Given the description of an element on the screen output the (x, y) to click on. 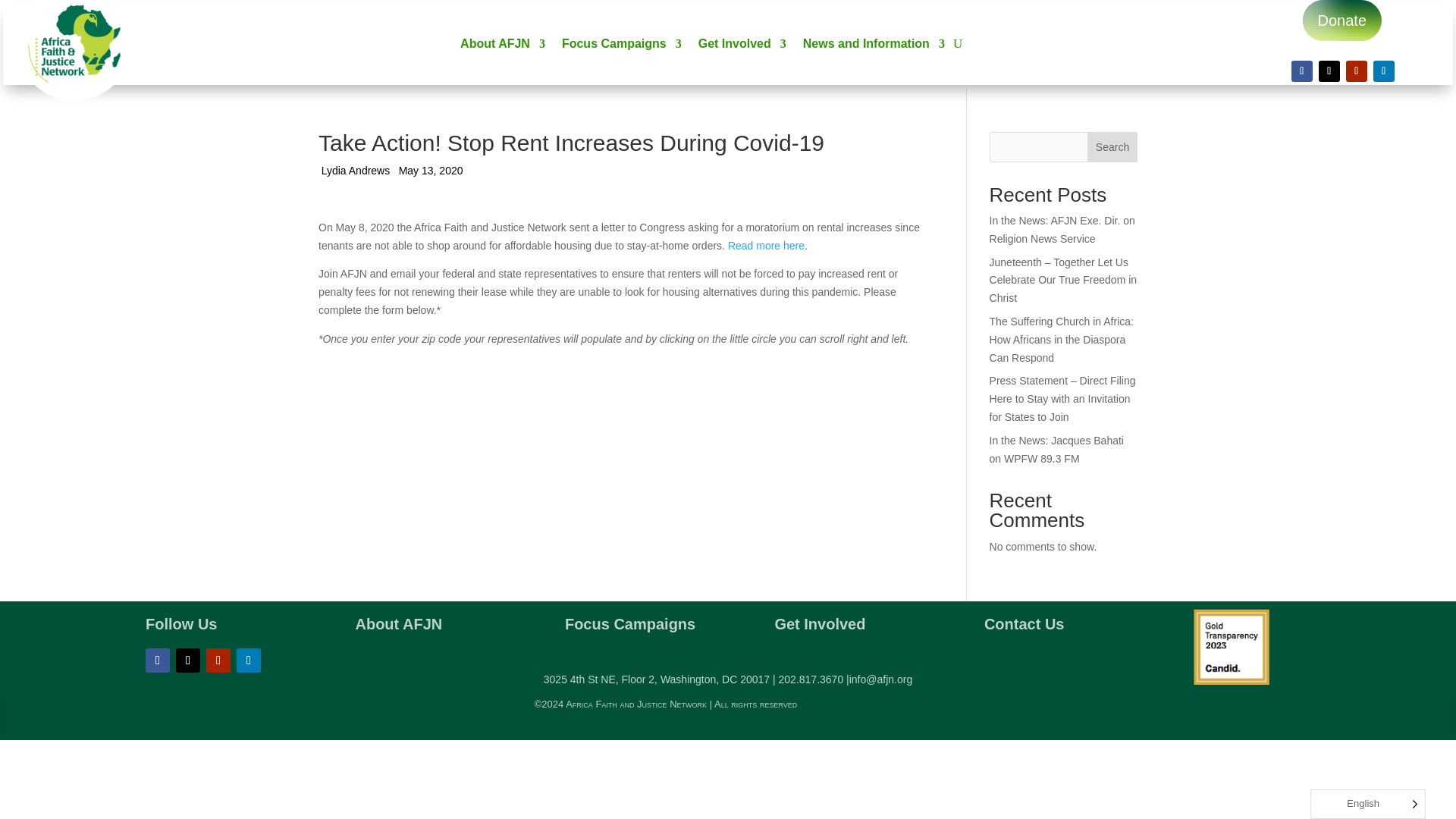
Follow on X (1329, 70)
Follow on Youtube (1356, 70)
Posts by Lydia Andrews (355, 171)
Follow on Facebook (157, 660)
Follow on LinkedIn (1383, 70)
Follow on LinkedIn (247, 660)
Follow on X (188, 660)
Follow on Youtube (218, 660)
Get Involved (742, 46)
AFJN Circle Logo 2 (74, 50)
Focus Campaigns (621, 46)
Follow on Facebook (1302, 70)
candid-seal-gold-2023 (1231, 646)
About AFJN (502, 46)
News and Information (873, 46)
